Given the description of an element on the screen output the (x, y) to click on. 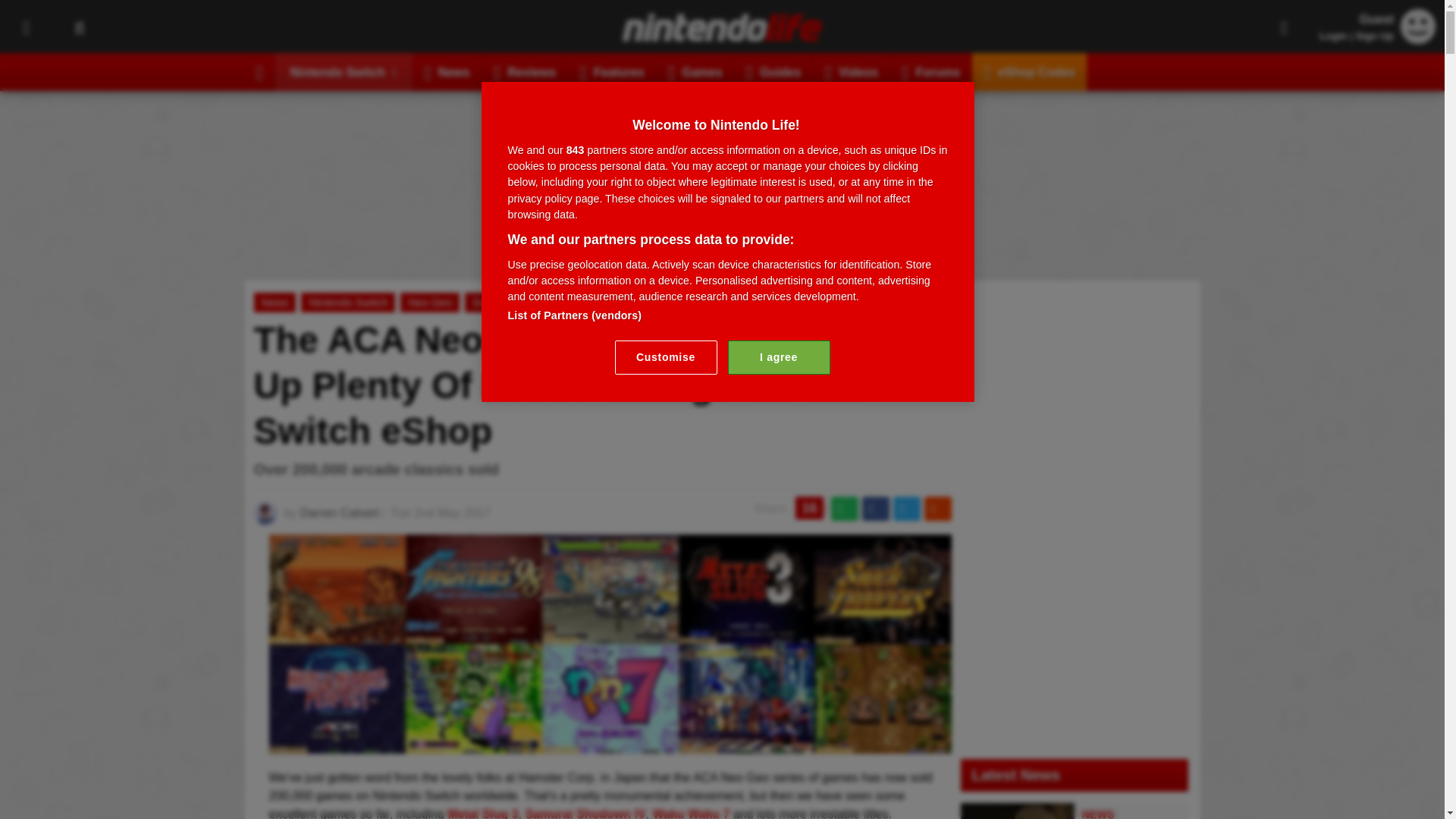
Videos (850, 71)
Share This Page (1283, 26)
Topics (26, 26)
Forums (930, 71)
Share this on Facebook (874, 508)
Login (1332, 35)
News (446, 71)
Neo Geo (608, 744)
Nintendo Life (721, 27)
